Given the description of an element on the screen output the (x, y) to click on. 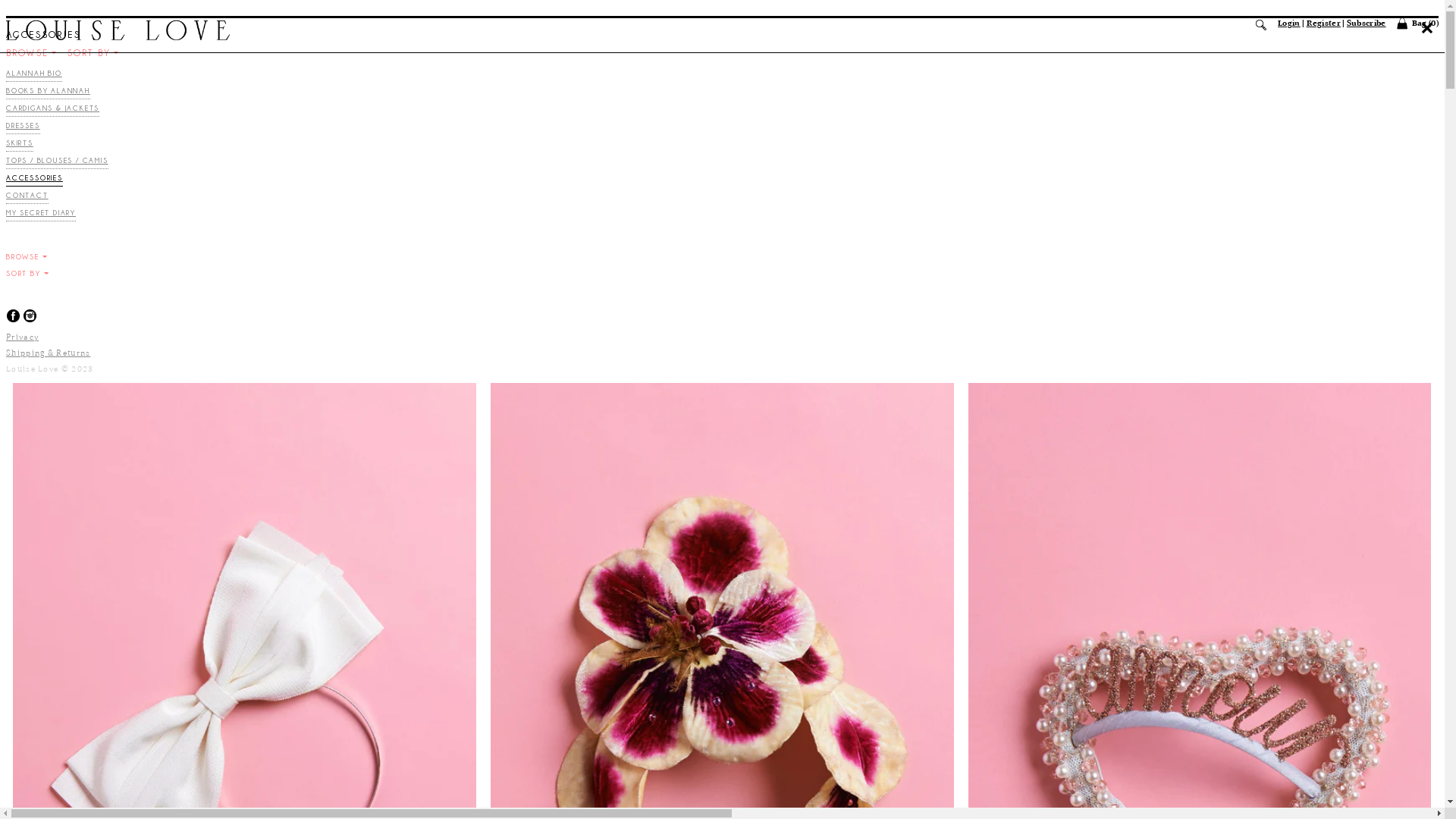
Privacy Element type: text (22, 337)
Subscribe Element type: text (1366, 23)
ACCESSORIES Element type: text (34, 179)
Login Element type: text (1288, 23)
MY SECRET DIARY Element type: text (40, 214)
BROWSE Element type: text (26, 256)
Shipping & Returns Element type: text (48, 353)
SKIRTS Element type: text (19, 144)
ALANNAH BIO Element type: text (34, 75)
CONTACT Element type: text (27, 197)
DRESSES Element type: text (23, 127)
BROWSE Element type: text (31, 52)
TOPS / BLOUSES / CAMIS Element type: text (57, 162)
Register Element type: text (1323, 23)
CARDIGANS & JACKETS Element type: text (52, 109)
Bag (0) Element type: text (1416, 23)
SORT BY Element type: text (92, 52)
SORT BY Element type: text (27, 273)
BOOKS BY ALANNAH Element type: text (48, 92)
